Given the description of an element on the screen output the (x, y) to click on. 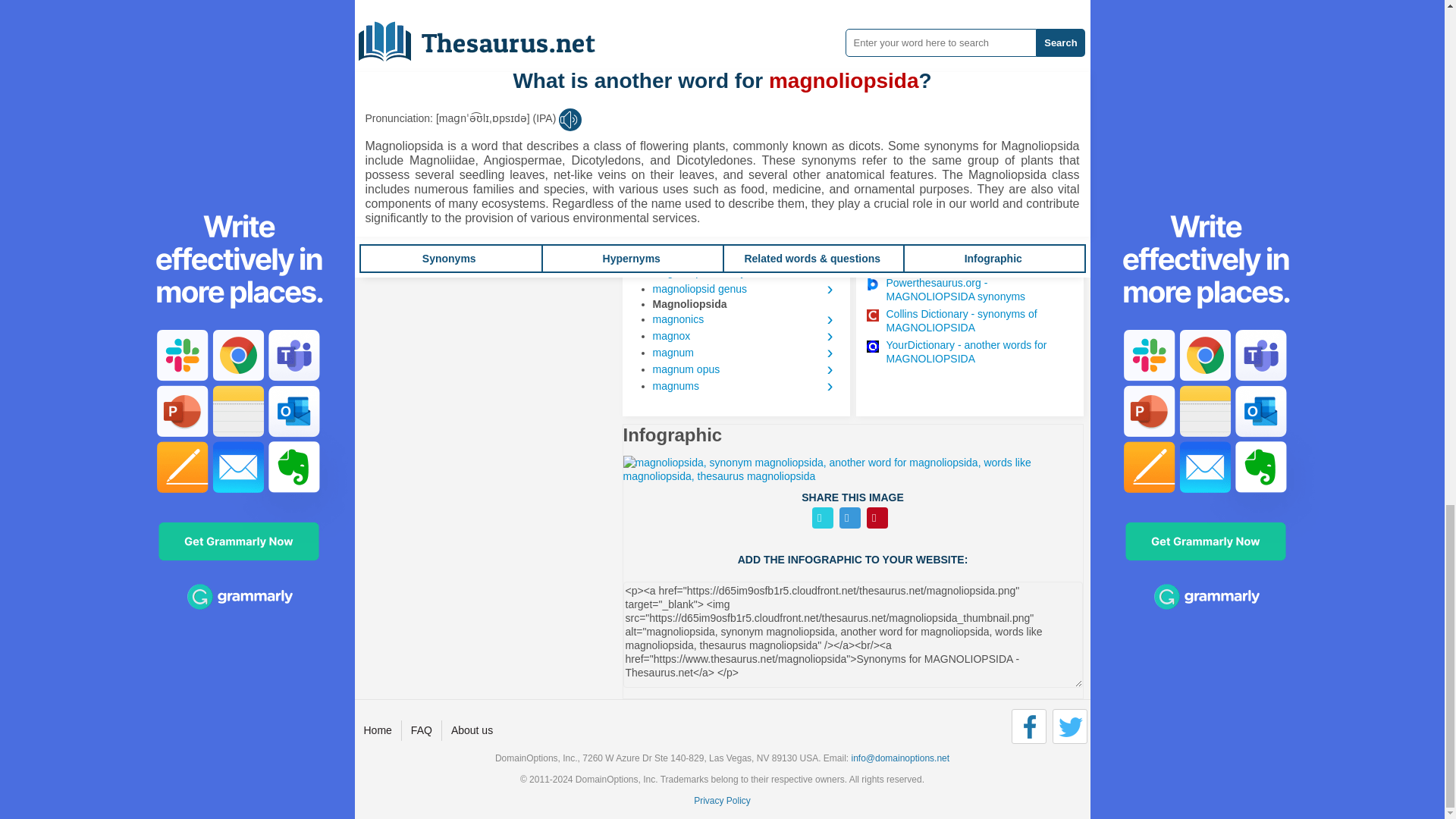
magnoliophyta (745, 238)
magnoliopsid (745, 255)
magnoliopsid genus (745, 288)
More (648, 140)
magnoliopsid family (745, 271)
magnonics (745, 319)
magnum opus (745, 369)
magnoliidae (745, 221)
magnum (745, 352)
magnox (745, 335)
magnums (745, 385)
